Given the description of an element on the screen output the (x, y) to click on. 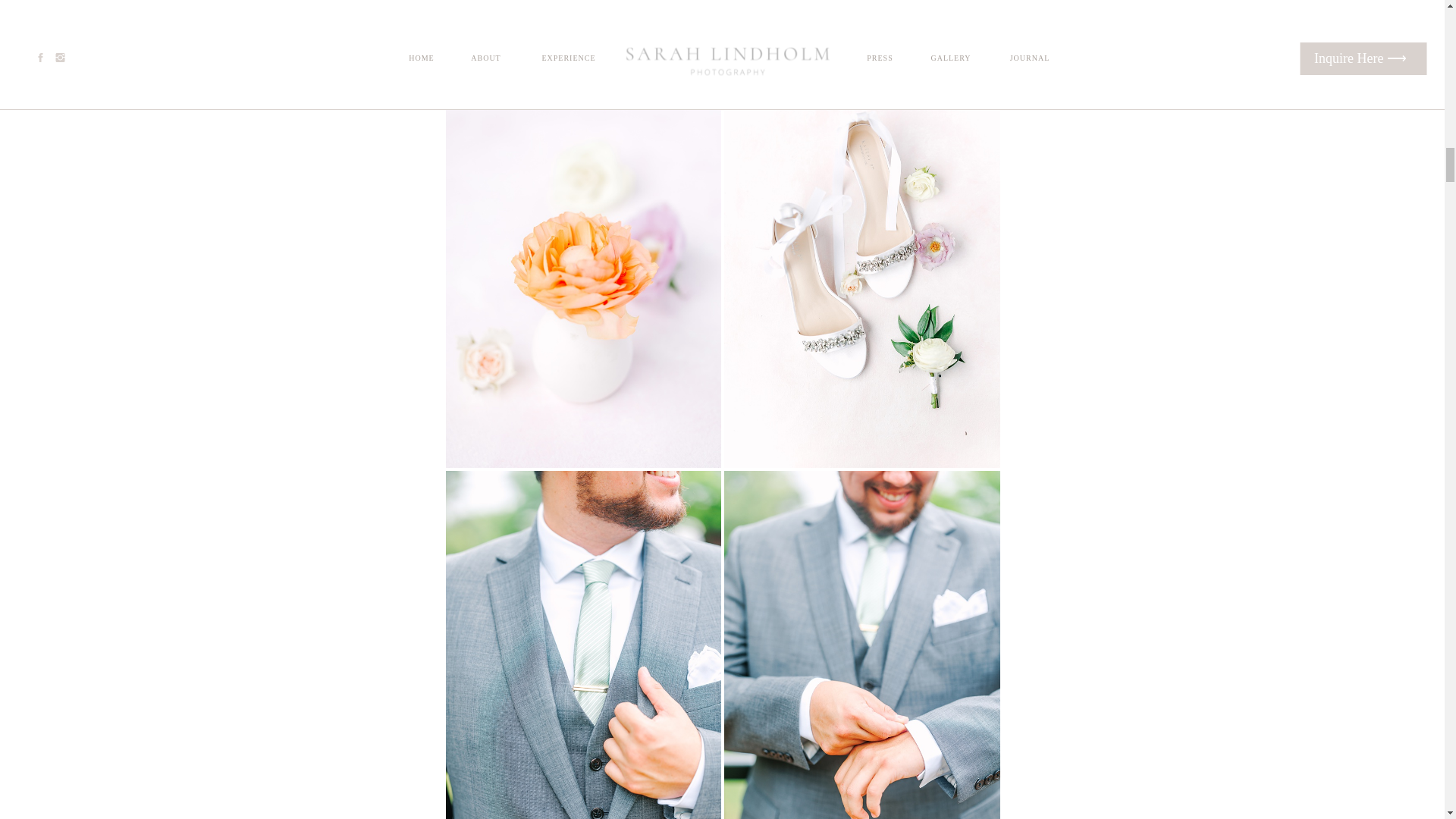
Dallas fort  worth wedding photographer (914, 25)
Dallas fort  worth wedding photographer (636, 25)
